Given the description of an element on the screen output the (x, y) to click on. 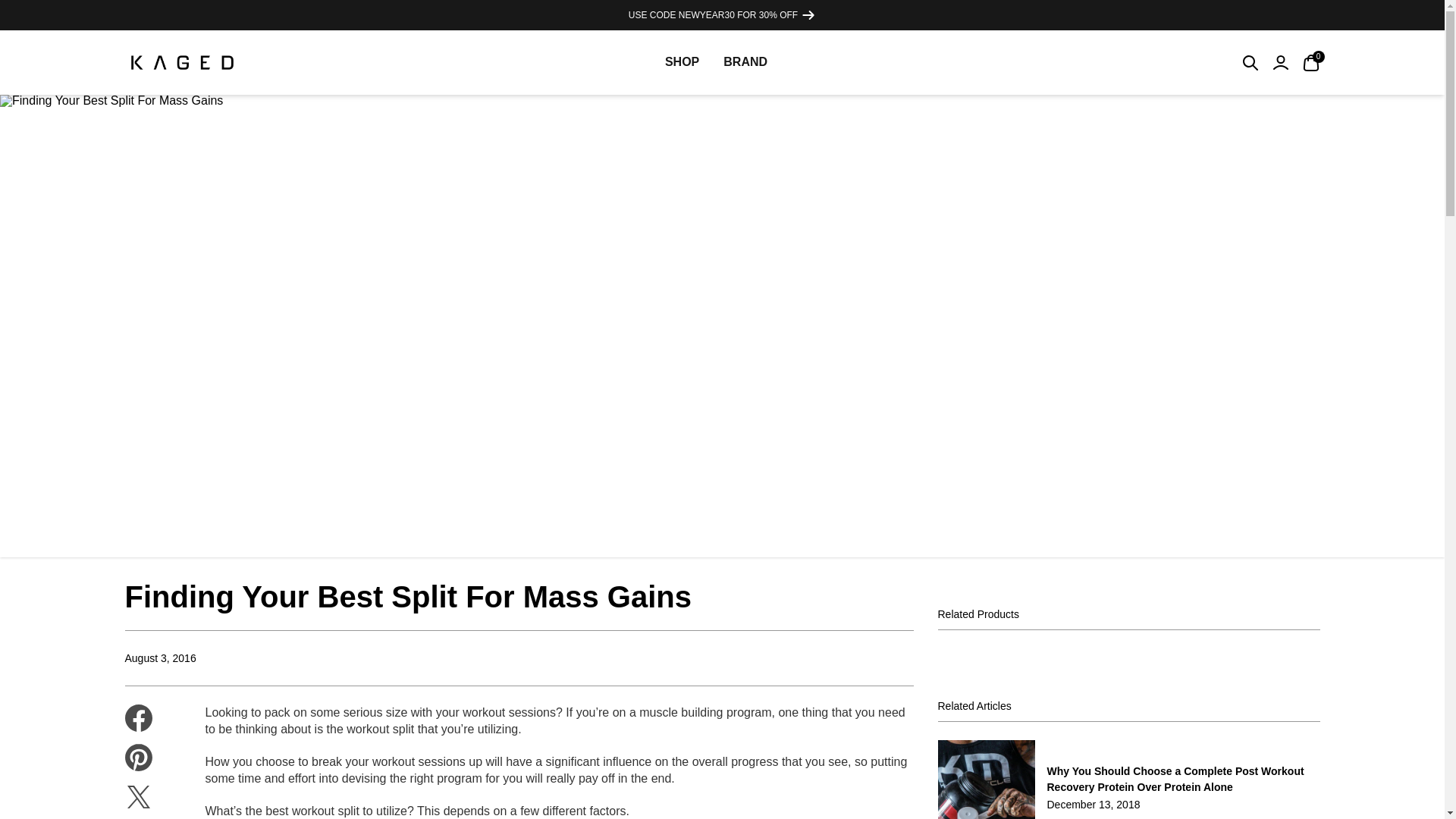
Share on Facebook (137, 718)
Share on Twitter (137, 796)
SHOP (716, 62)
Share on Pinterest (681, 61)
